Given the description of an element on the screen output the (x, y) to click on. 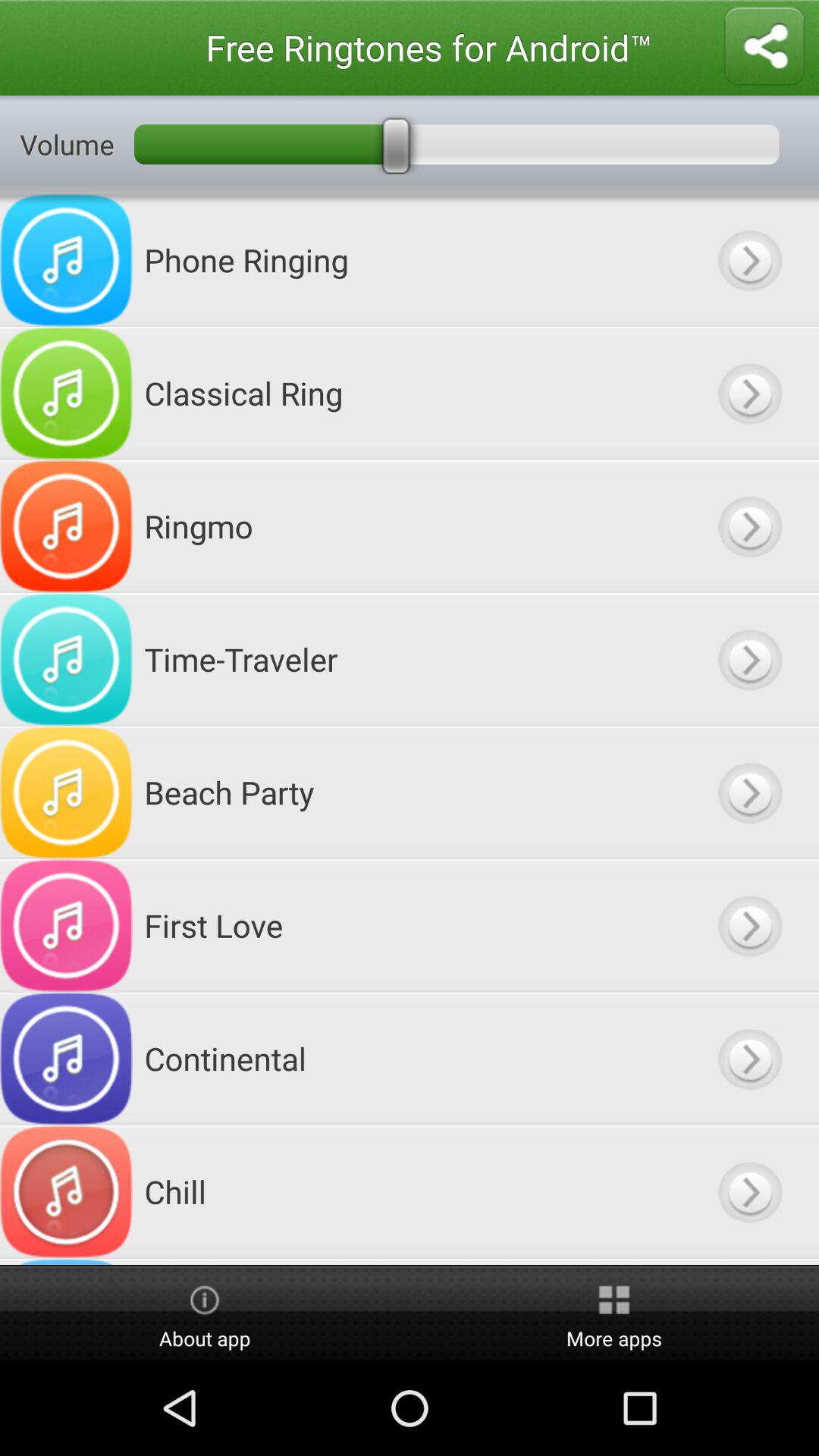
go to play (749, 393)
